Given the description of an element on the screen output the (x, y) to click on. 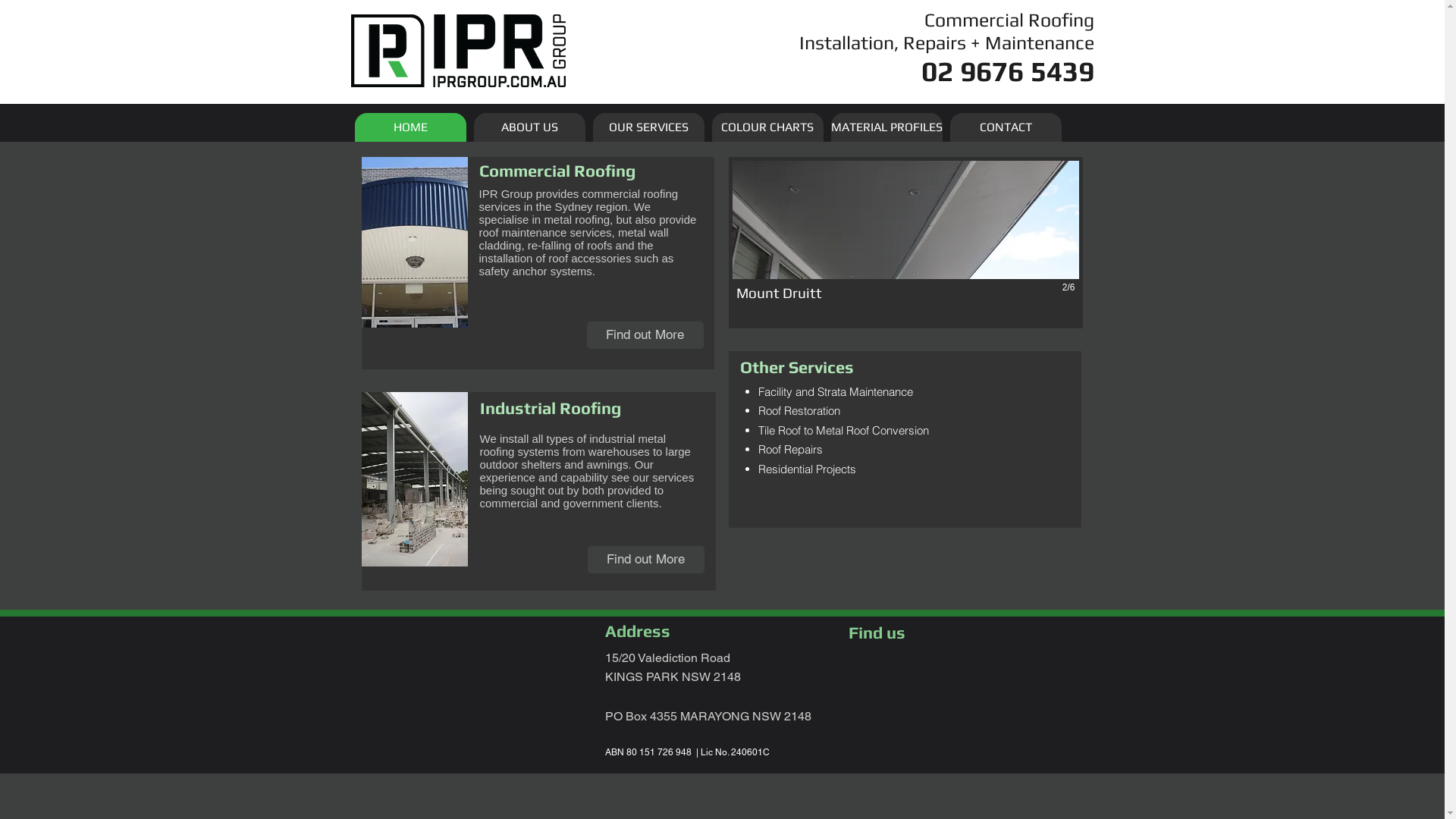
CONTACT Element type: text (1004, 126)
IMG_2342.JPG Element type: hover (413, 479)
IMG_2324.JPG Element type: hover (413, 241)
ABOUT US Element type: text (528, 126)
Find out More Element type: text (644, 559)
IPRLogo_PH_web.png Element type: hover (457, 50)
OUR SERVICES Element type: text (648, 126)
HOME Element type: text (410, 126)
Google Maps Element type: hover (966, 705)
Find out More Element type: text (644, 334)
